Given the description of an element on the screen output the (x, y) to click on. 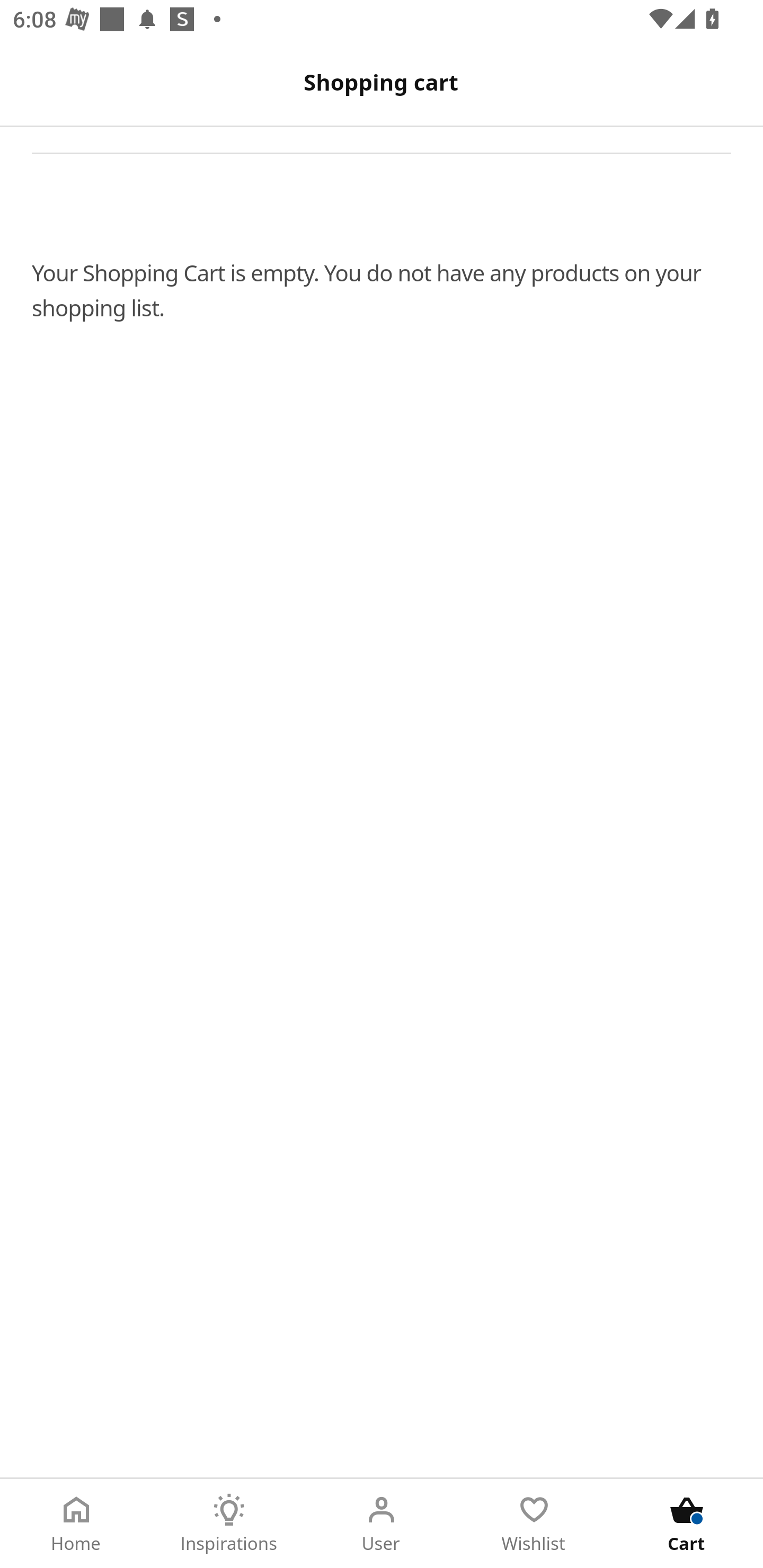
Home
Tab 1 of 5 (76, 1522)
Inspirations
Tab 2 of 5 (228, 1522)
User
Tab 3 of 5 (381, 1522)
Wishlist
Tab 4 of 5 (533, 1522)
Cart
Tab 5 of 5 (686, 1522)
